Given the description of an element on the screen output the (x, y) to click on. 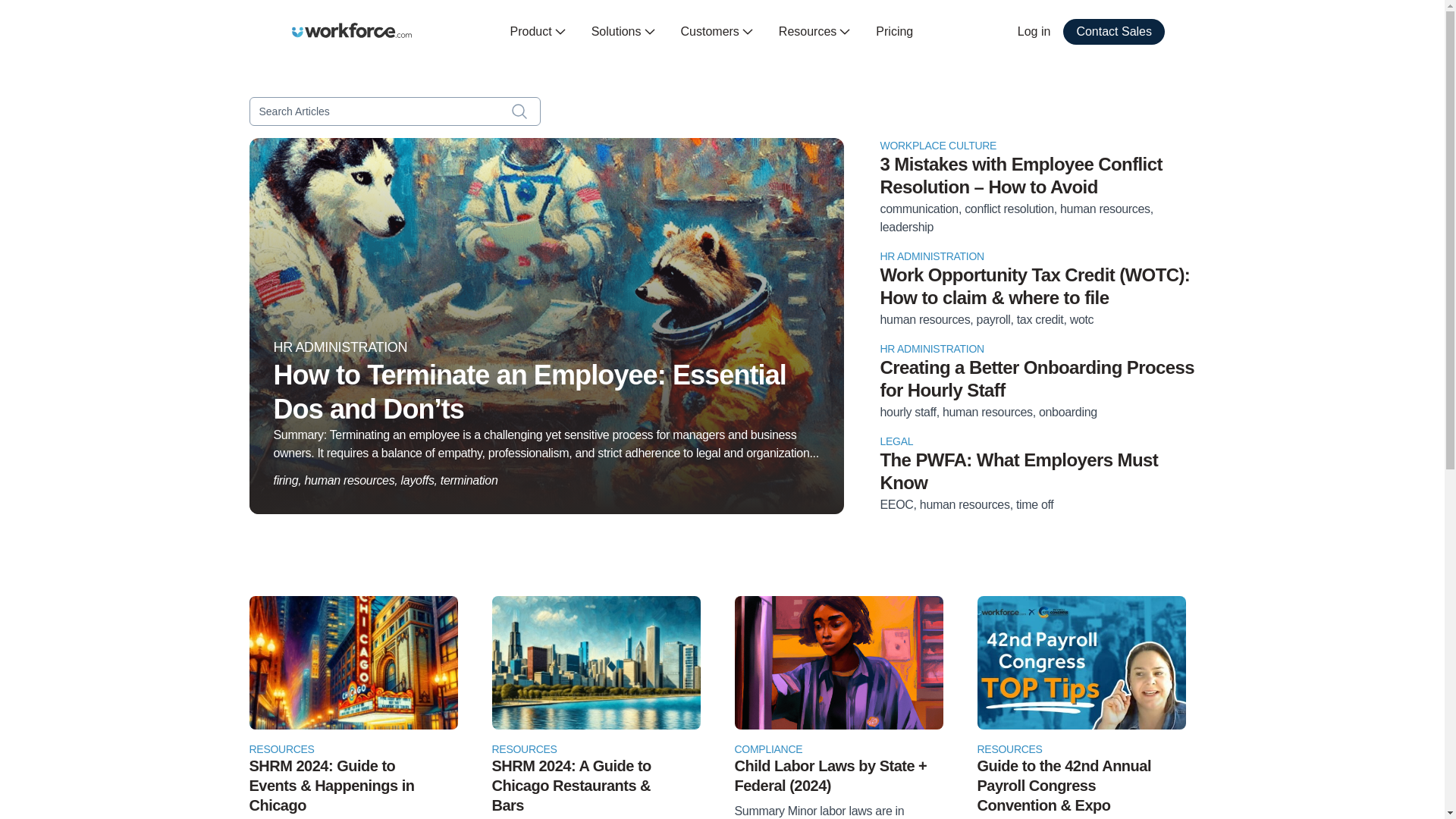
Product (539, 31)
Workforce.com (351, 29)
Solutions (623, 31)
